Given the description of an element on the screen output the (x, y) to click on. 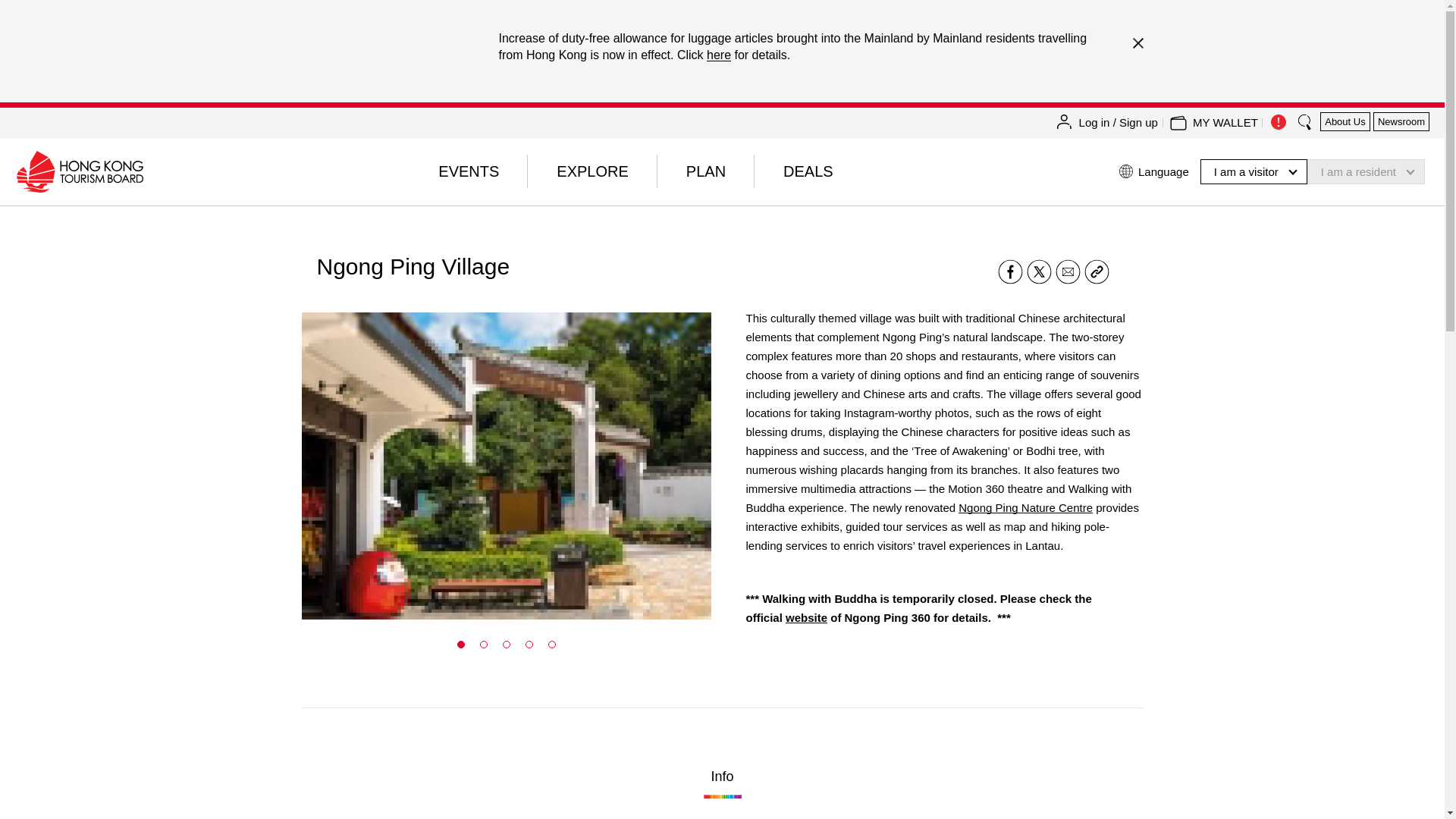
PLAN (706, 171)
Hong Kong Tourism Board (79, 171)
EXPLORE (591, 171)
here (718, 54)
MY WALLET (1224, 122)
Newsroom (1401, 121)
About Us (1345, 121)
